Given the description of an element on the screen output the (x, y) to click on. 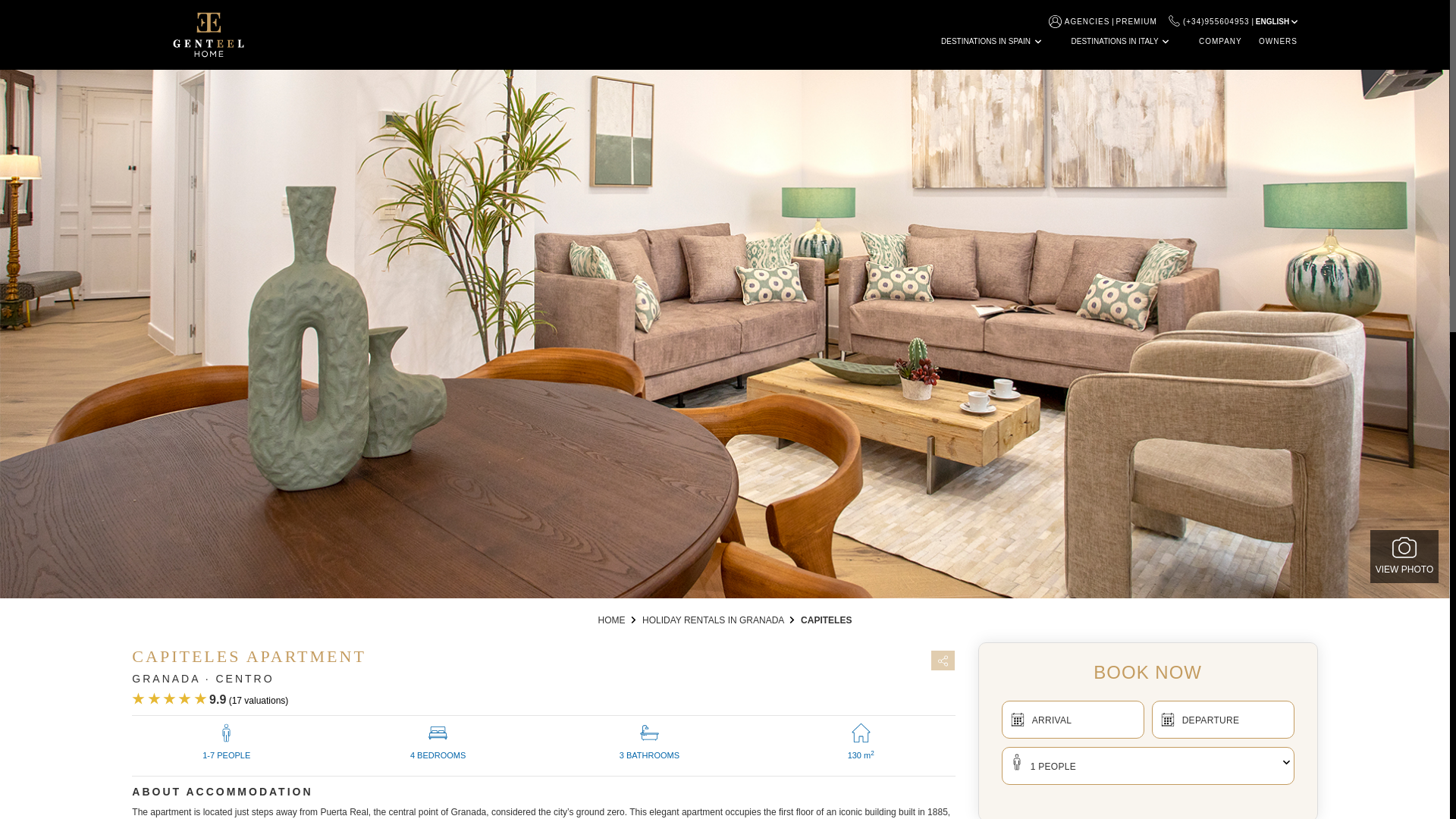
Genteel Home (612, 620)
AGENCIES (1086, 21)
HOLIDAY RENTALS IN GRANADA (713, 620)
HOME (612, 620)
PREMIUM (1136, 21)
CAPITELES (825, 620)
COMPANY (1219, 41)
1 PEOPLE (1147, 765)
Holiday rentals in (713, 620)
OWNERS (1278, 41)
